Given the description of an element on the screen output the (x, y) to click on. 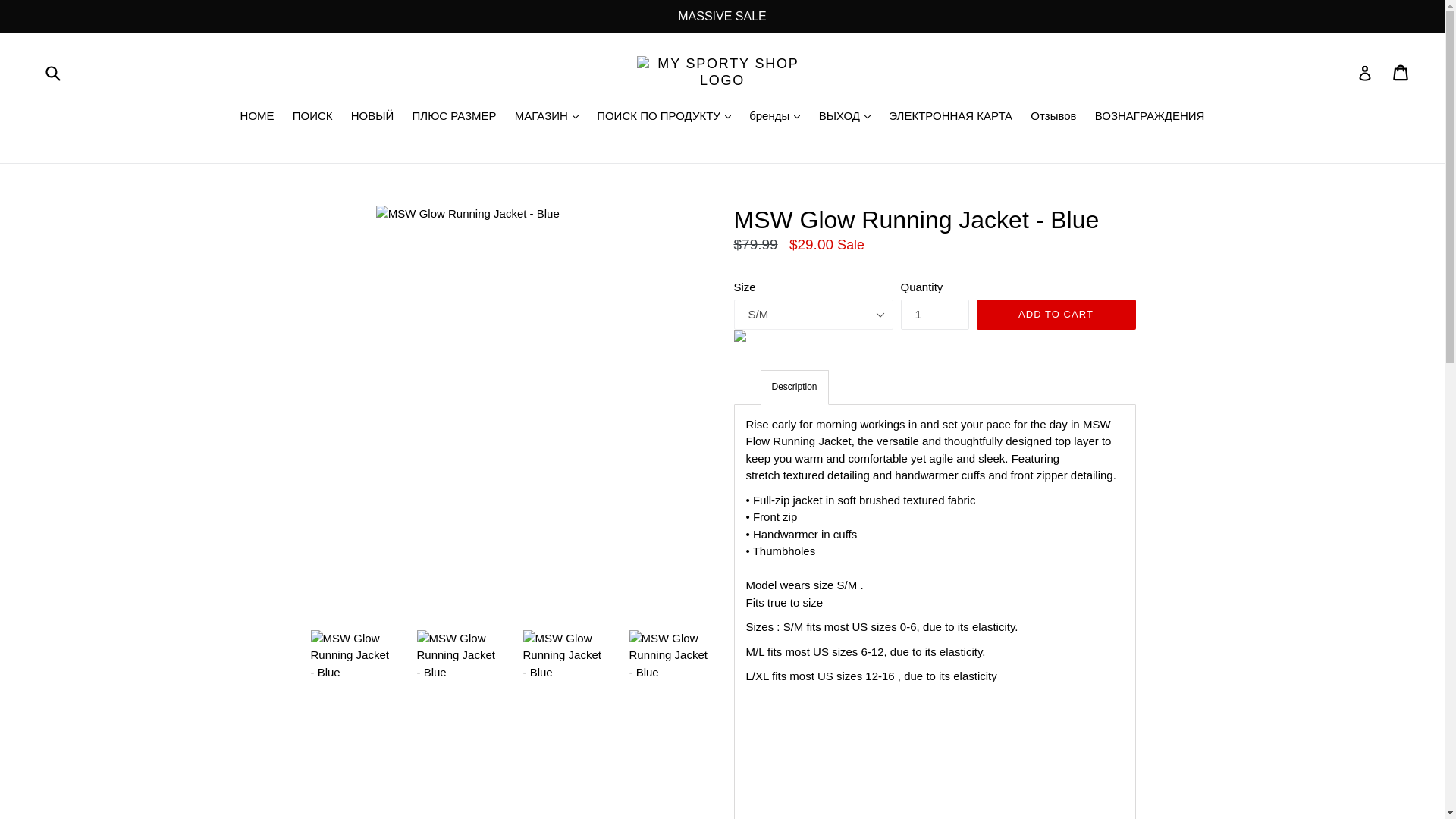
1 (935, 314)
